Given the description of an element on the screen output the (x, y) to click on. 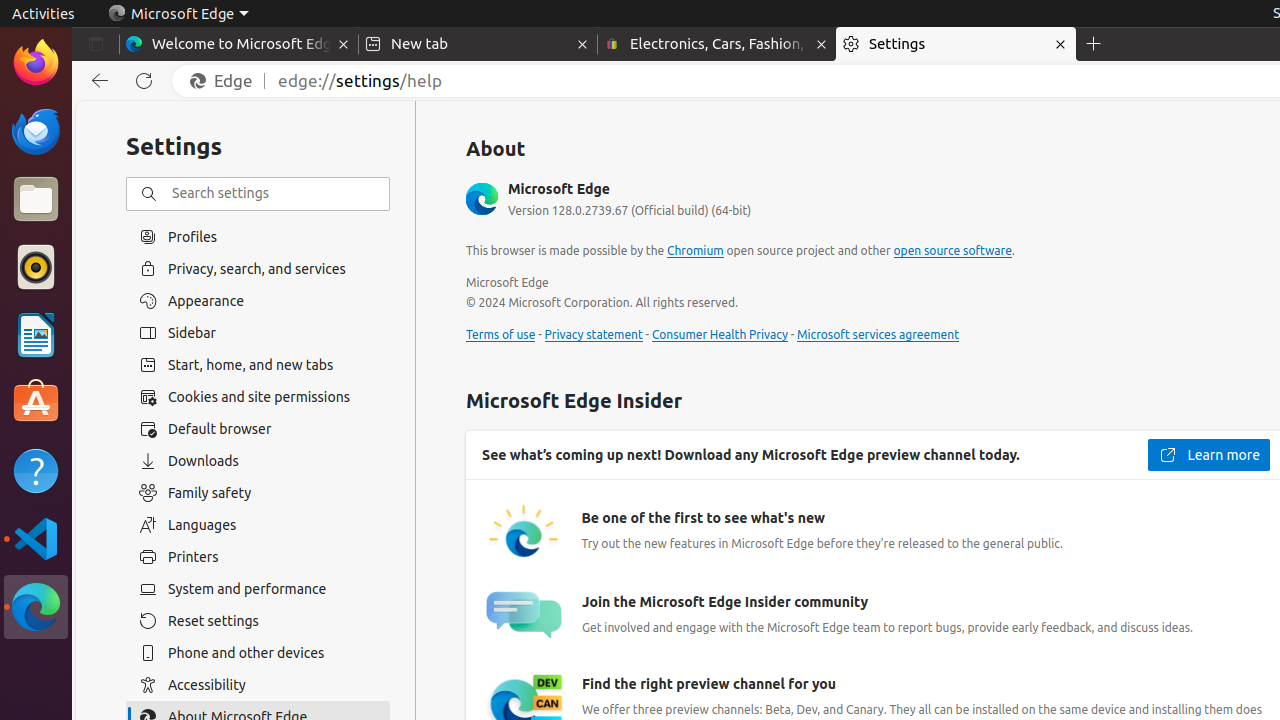
Reset settings Element type: tree-item (258, 621)
